Given the description of an element on the screen output the (x, y) to click on. 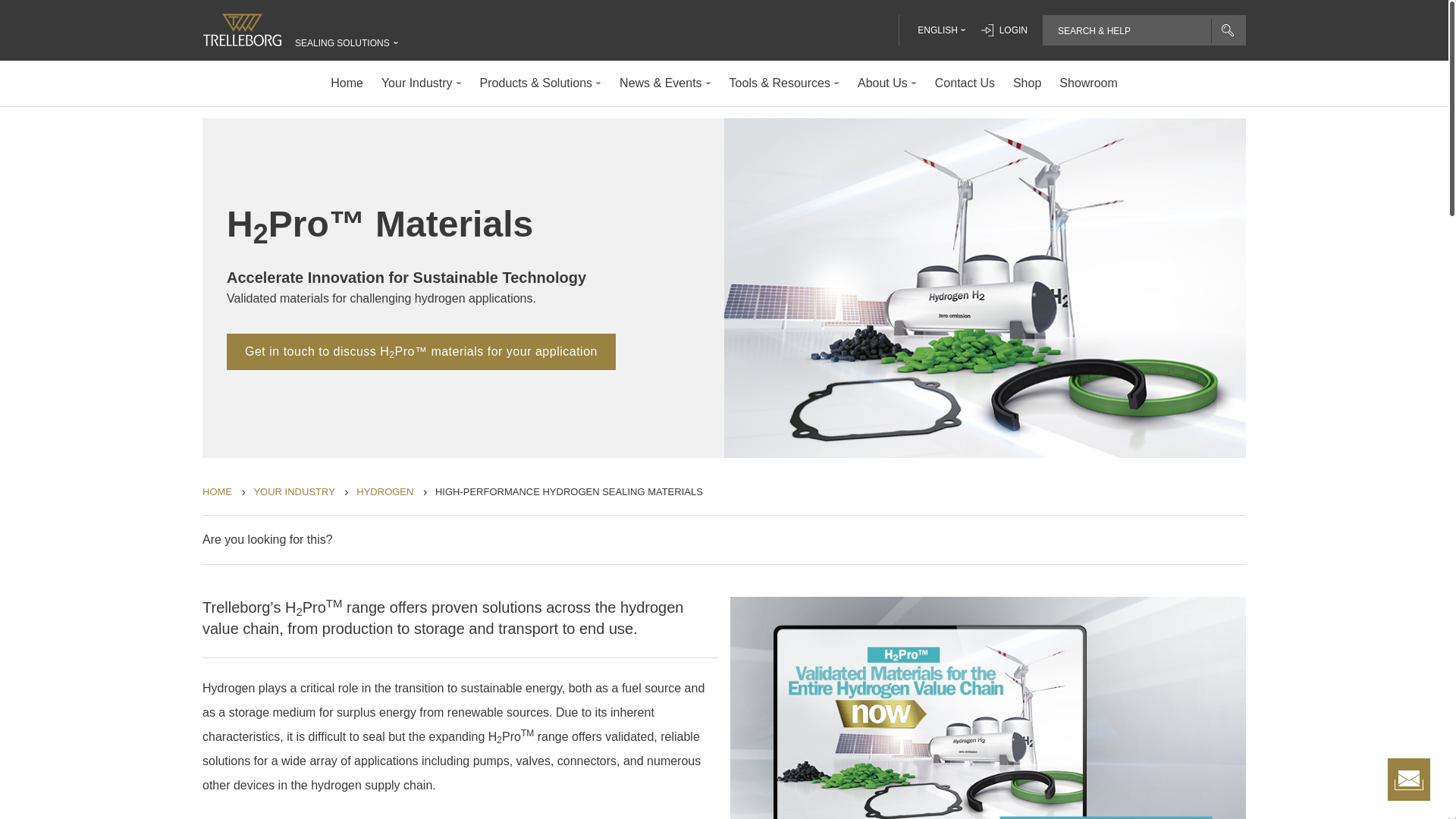
LOGIN (1004, 29)
SEALING SOLUTIONS (342, 42)
Home (216, 492)
Hydrogen-Sealing (384, 492)
Your Industry (293, 492)
h2pro hydrogen sealing materials (569, 492)
